Given the description of an element on the screen output the (x, y) to click on. 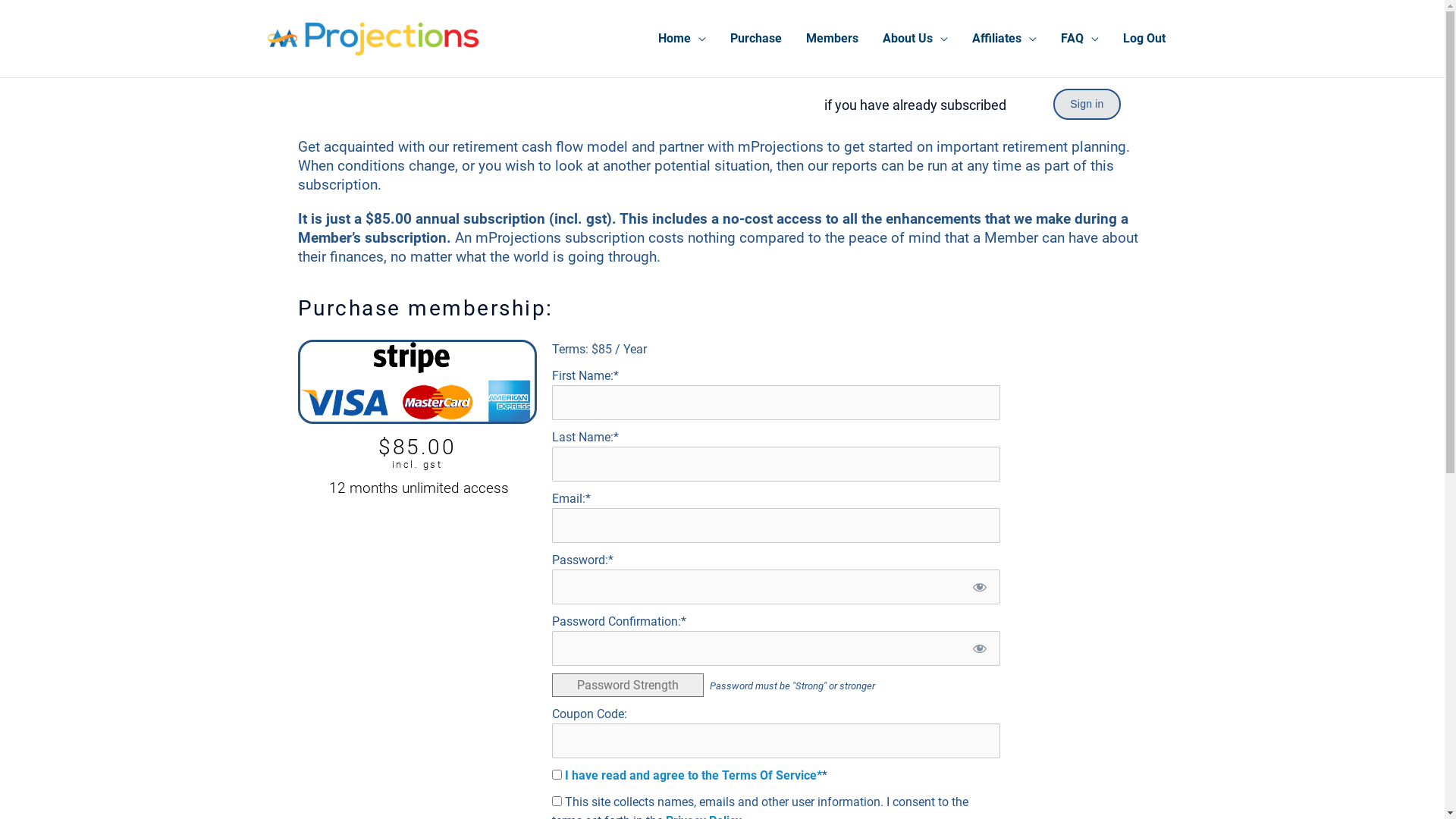
I have read and agree to the Terms Of Service* Element type: text (693, 775)
Affiliates Element type: text (1004, 38)
FAQ Element type: text (1079, 38)
Members Element type: text (831, 38)
Home Element type: text (682, 38)
Purchase Element type: text (755, 38)
Log Out Element type: text (1143, 38)
Sign in Element type: text (1086, 103)
About Us Element type: text (915, 38)
